Given the description of an element on the screen output the (x, y) to click on. 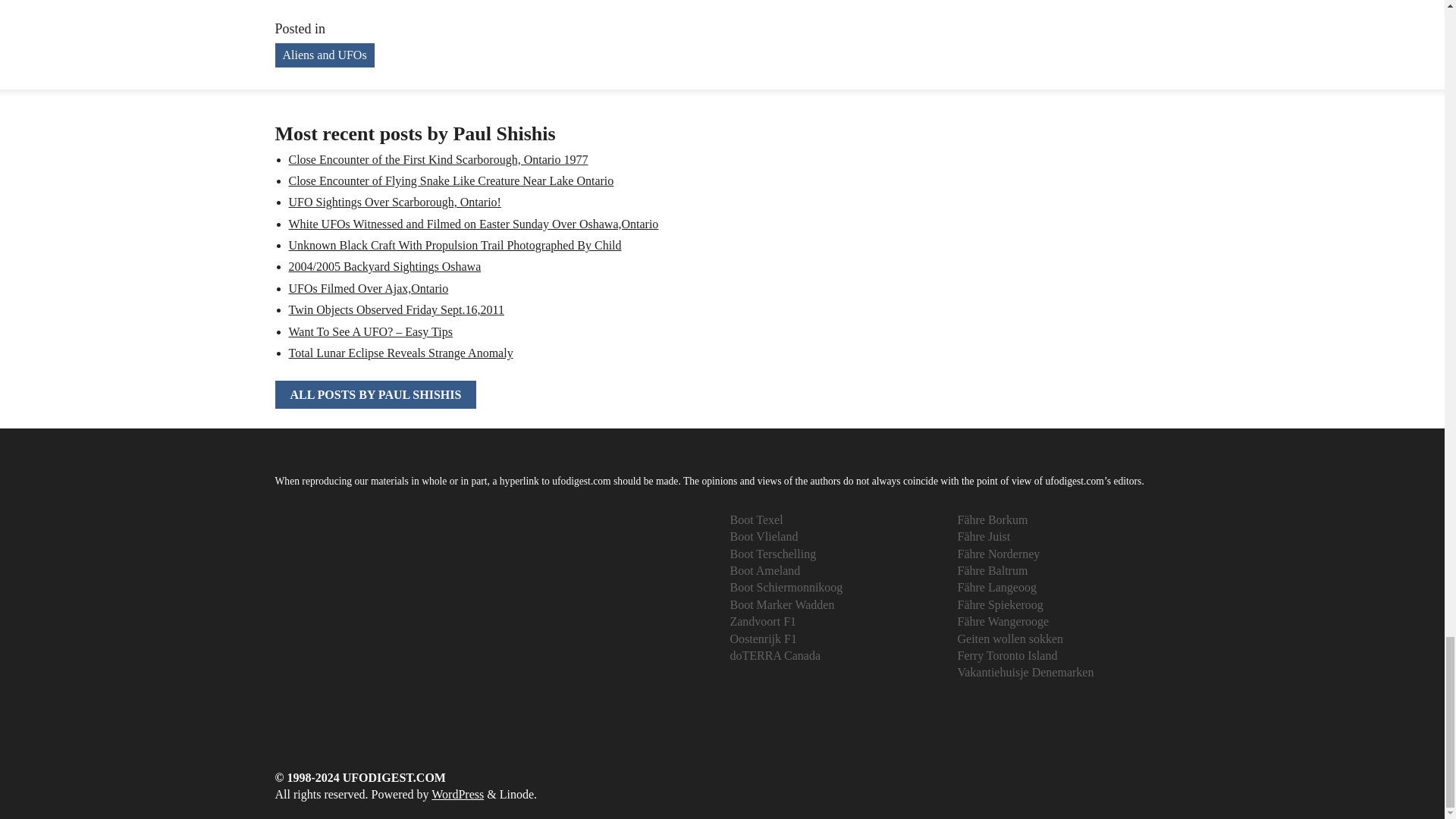
Close Encounter of the First Kind  Scarborough, Ontario 1977 (438, 159)
UFO Sightings Over Scarborough, Ontario! (394, 201)
